Given the description of an element on the screen output the (x, y) to click on. 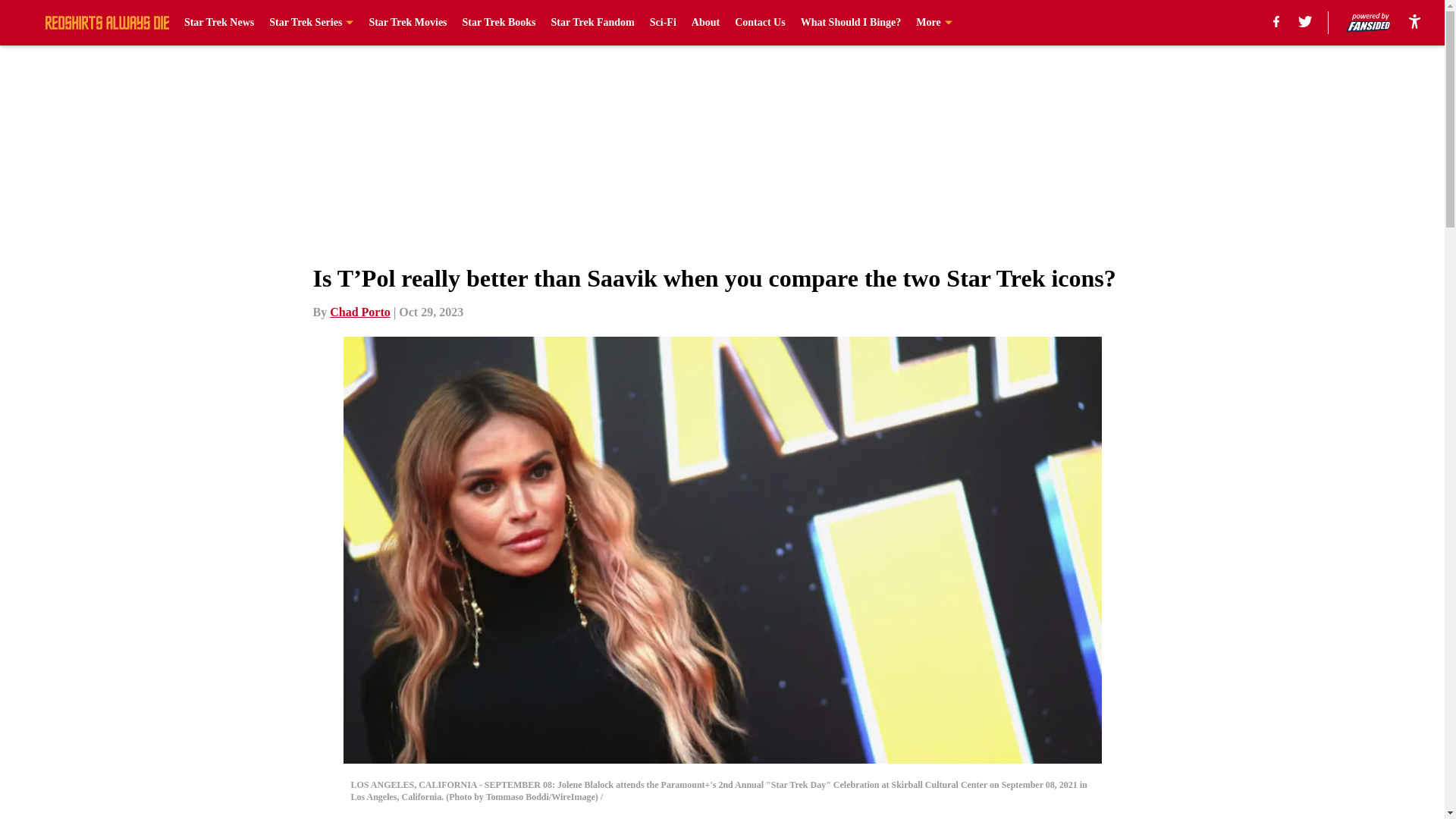
About (705, 22)
Contact Us (760, 22)
Star Trek Books (499, 22)
Star Trek News (218, 22)
Chad Porto (360, 311)
Star Trek Fandom (592, 22)
What Should I Binge? (850, 22)
Sci-Fi (663, 22)
More (933, 22)
Star Trek Movies (407, 22)
